Given the description of an element on the screen output the (x, y) to click on. 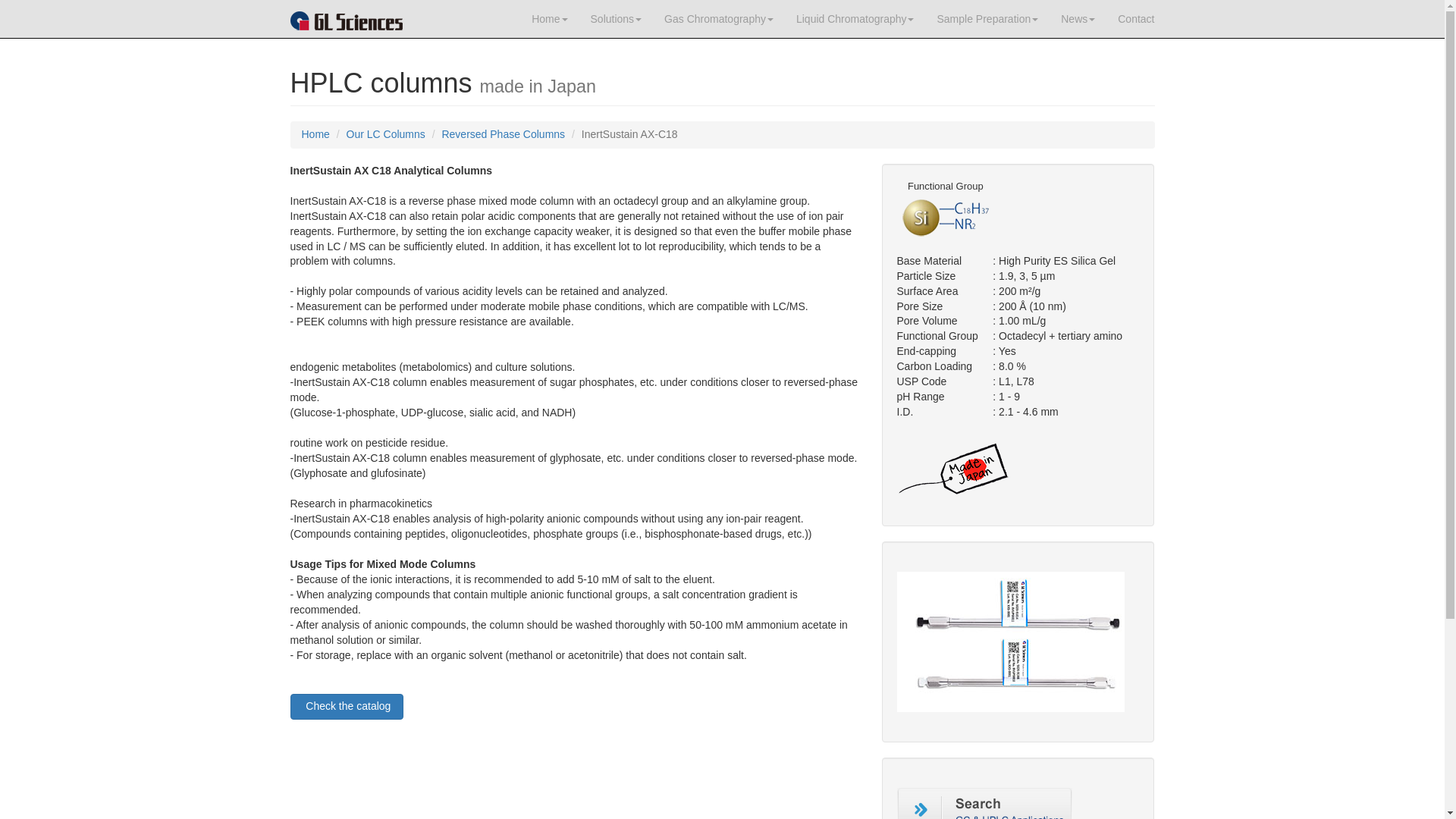
Home (548, 18)
News (1077, 18)
Sample Preparation (986, 18)
Liquid Chromatography (855, 18)
Gas Chromatography (718, 18)
Solutions (616, 18)
